Given the description of an element on the screen output the (x, y) to click on. 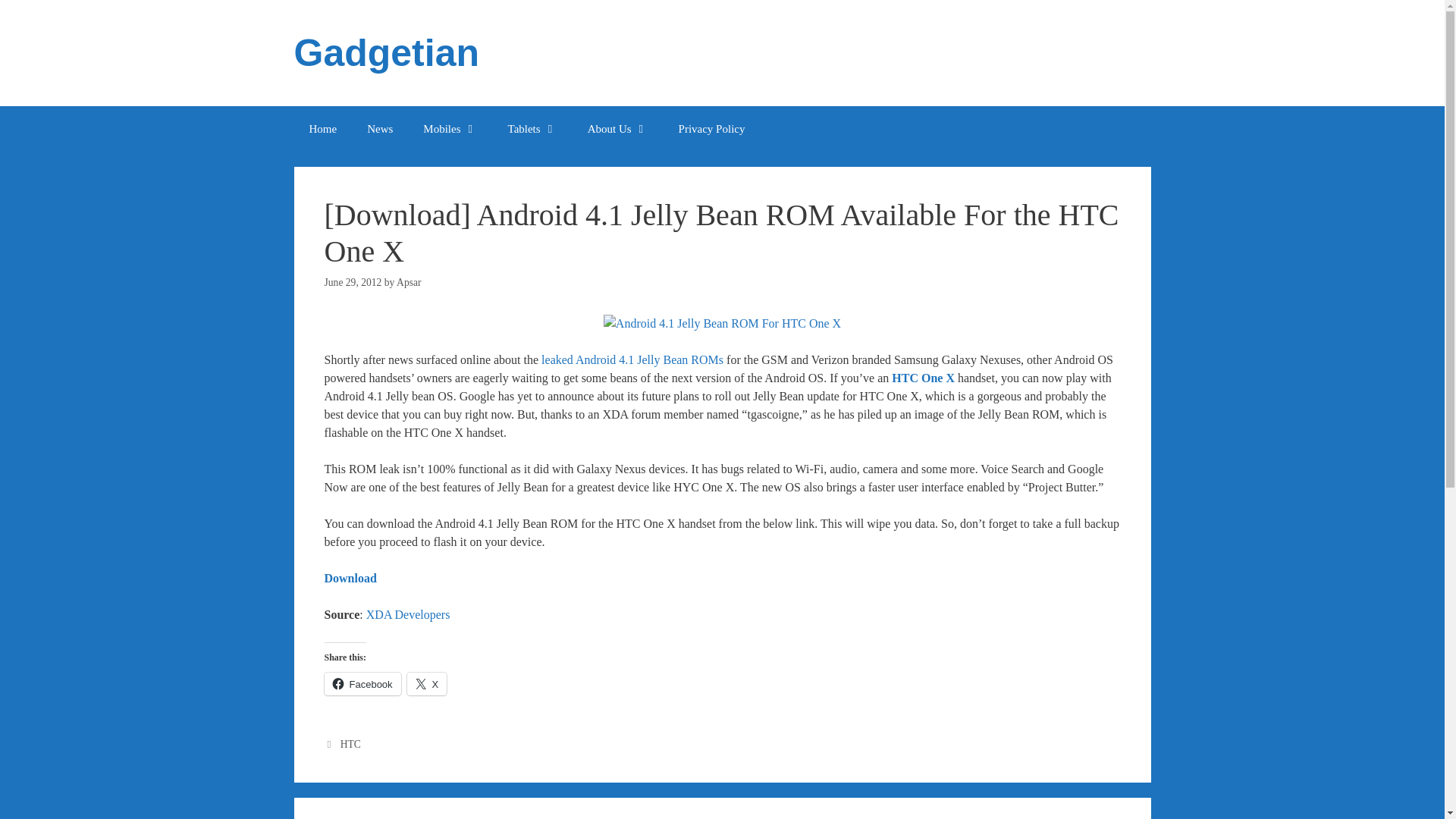
Gadgetian (386, 52)
Click to share on Facebook (362, 683)
Download (350, 577)
XDA Developers (407, 614)
X (426, 683)
News (379, 128)
Click to share on X (426, 683)
Tablets (532, 128)
View all posts by Apsar (408, 282)
Android 4.1 Jelly Bean ROM For HTC One X (722, 323)
